Given the description of an element on the screen output the (x, y) to click on. 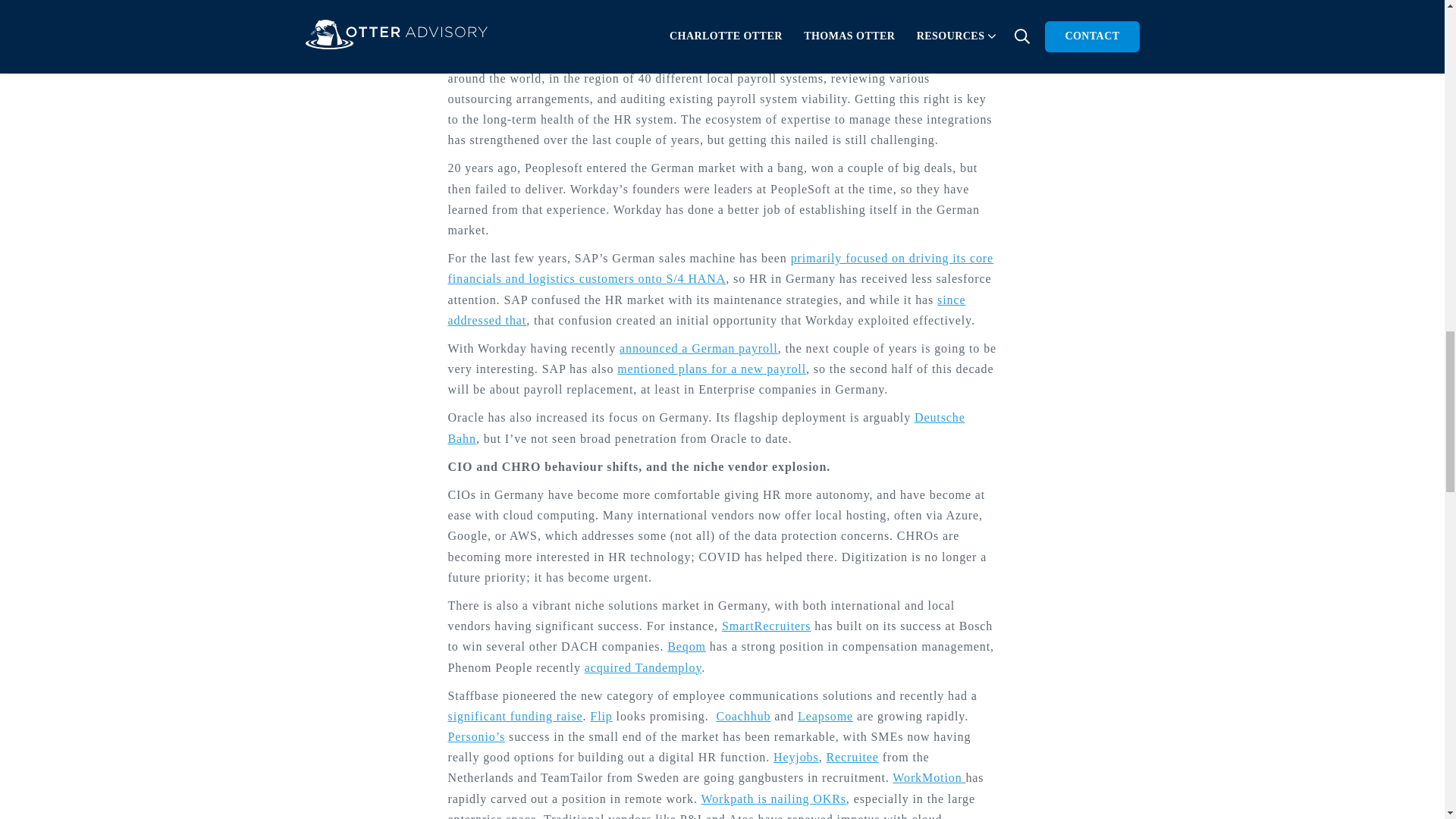
significant funding raise (514, 716)
WorkMotion (928, 777)
mentioned plans for a new payroll (711, 368)
announced a German payroll (698, 348)
Deutsche Bahn (704, 427)
Heyjobs (795, 757)
SmartRecruiters (766, 625)
Recruitee (851, 757)
Flip (600, 716)
since addressed that (705, 309)
